Given the description of an element on the screen output the (x, y) to click on. 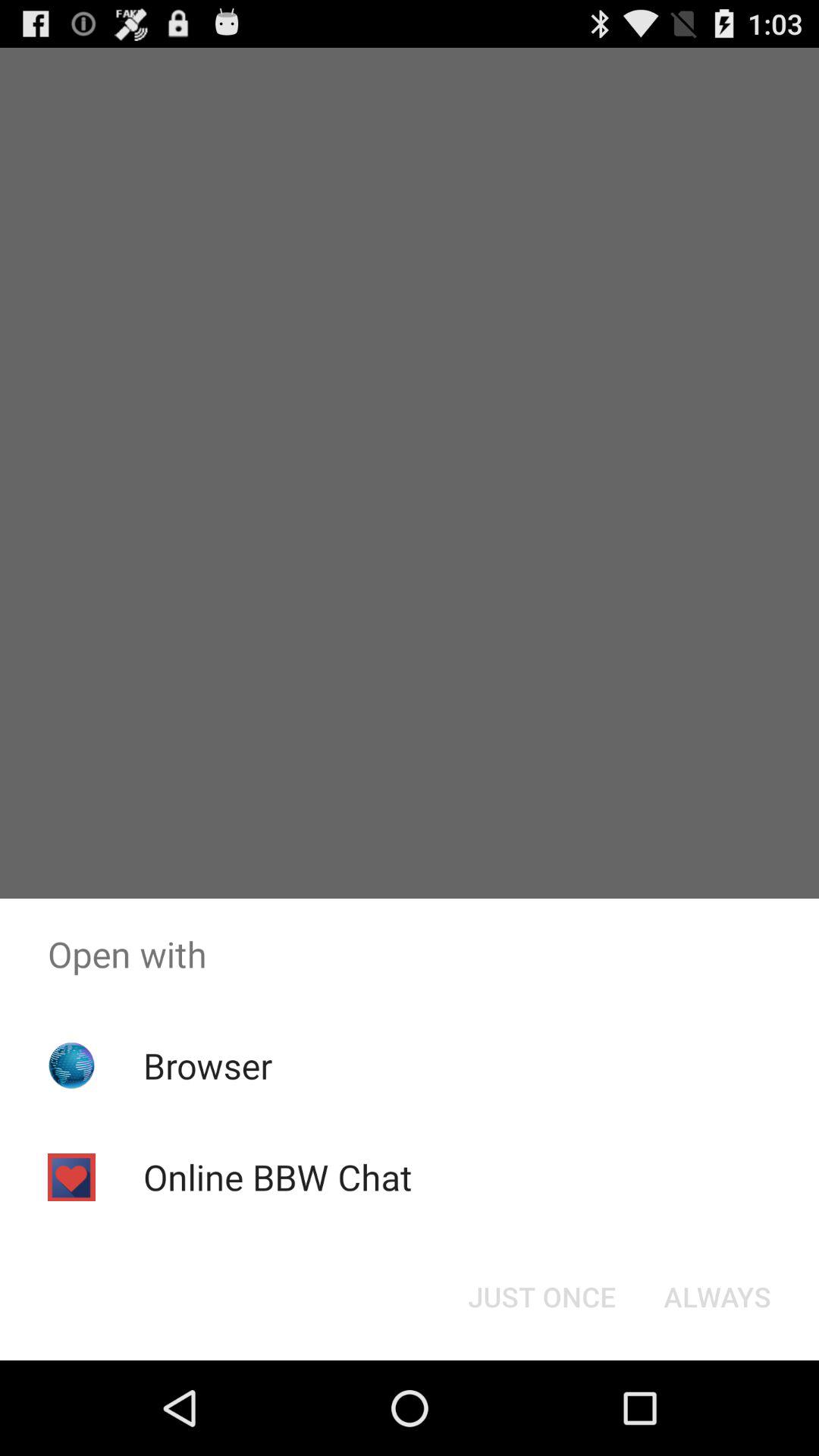
launch the browser (207, 1065)
